Given the description of an element on the screen output the (x, y) to click on. 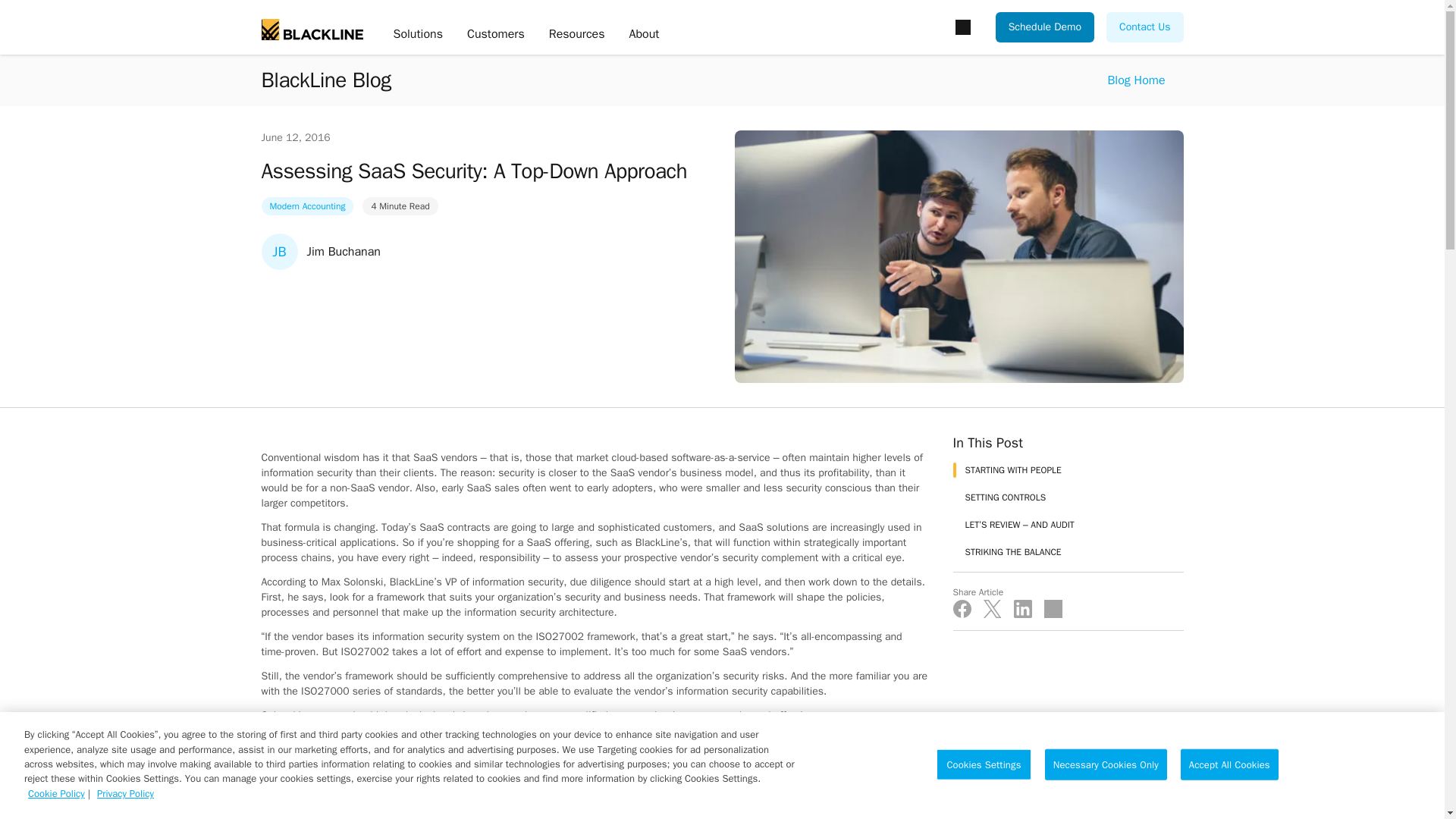
Customers (495, 34)
Schedule Demo (1044, 27)
Blog Home (1135, 80)
Contact Us (1144, 27)
Resources (576, 34)
Solutions (417, 34)
